Given the description of an element on the screen output the (x, y) to click on. 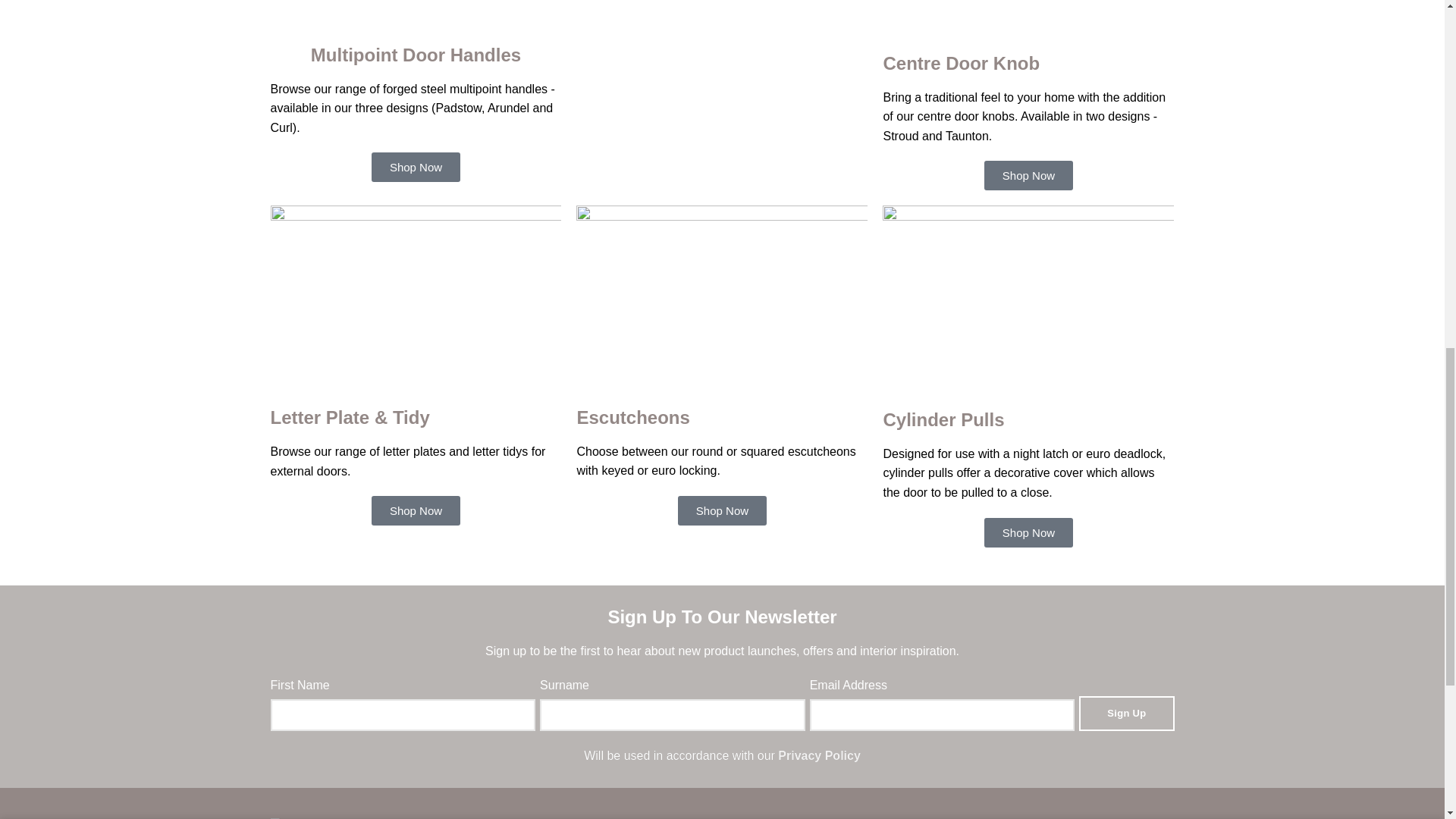
Sign up (1125, 713)
